Given the description of an element on the screen output the (x, y) to click on. 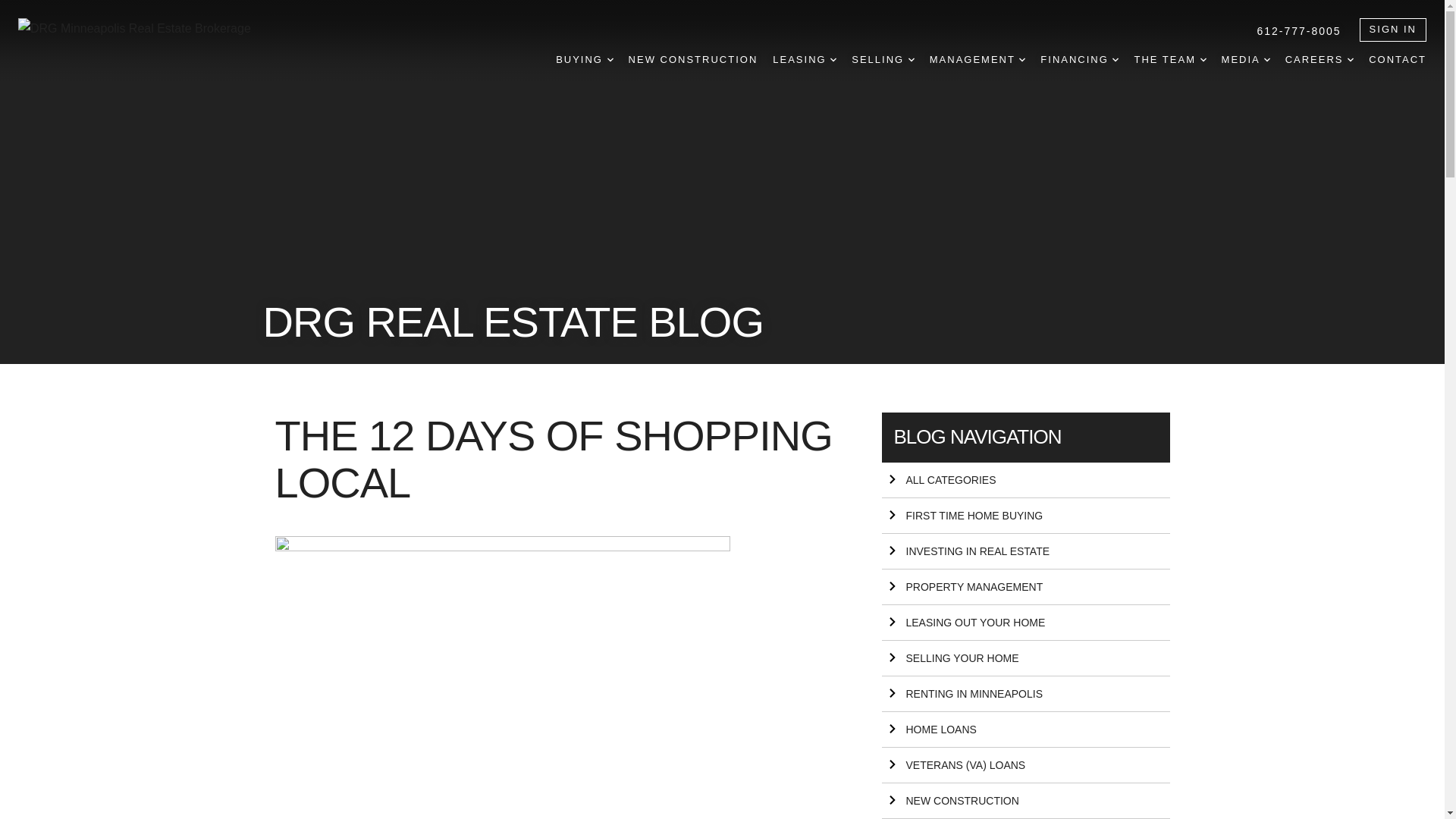
SELLING DROPDOWN ARROW (882, 59)
DROPDOWN ARROW (609, 59)
DROPDOWN ARROW (911, 59)
DROPDOWN ARROW (832, 59)
CAREERS DROPDOWN ARROW (1319, 59)
MANAGEMENT DROPDOWN ARROW (978, 59)
THE TEAM DROPDOWN ARROW (1169, 59)
BUYING DROPDOWN ARROW (584, 59)
DROPDOWN ARROW (1022, 59)
DROPDOWN ARROW (1266, 59)
